Given the description of an element on the screen output the (x, y) to click on. 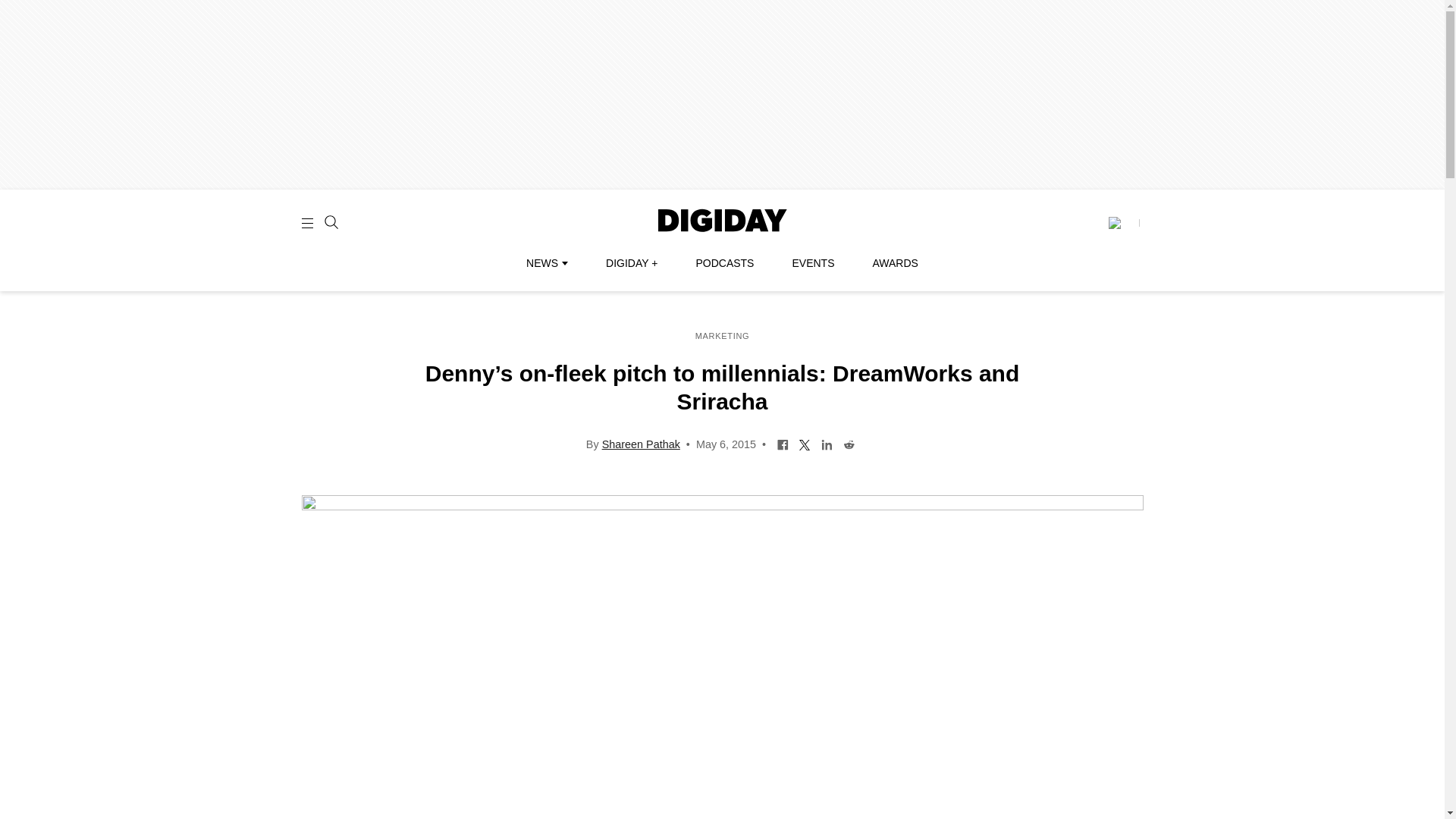
Subscribe (1123, 223)
Share on Twitter (803, 443)
Share on Facebook (782, 443)
EVENTS (813, 262)
Share on Reddit (849, 443)
AWARDS (894, 262)
NEWS (546, 262)
PODCASTS (725, 262)
Share on LinkedIn (826, 443)
